Given the description of an element on the screen output the (x, y) to click on. 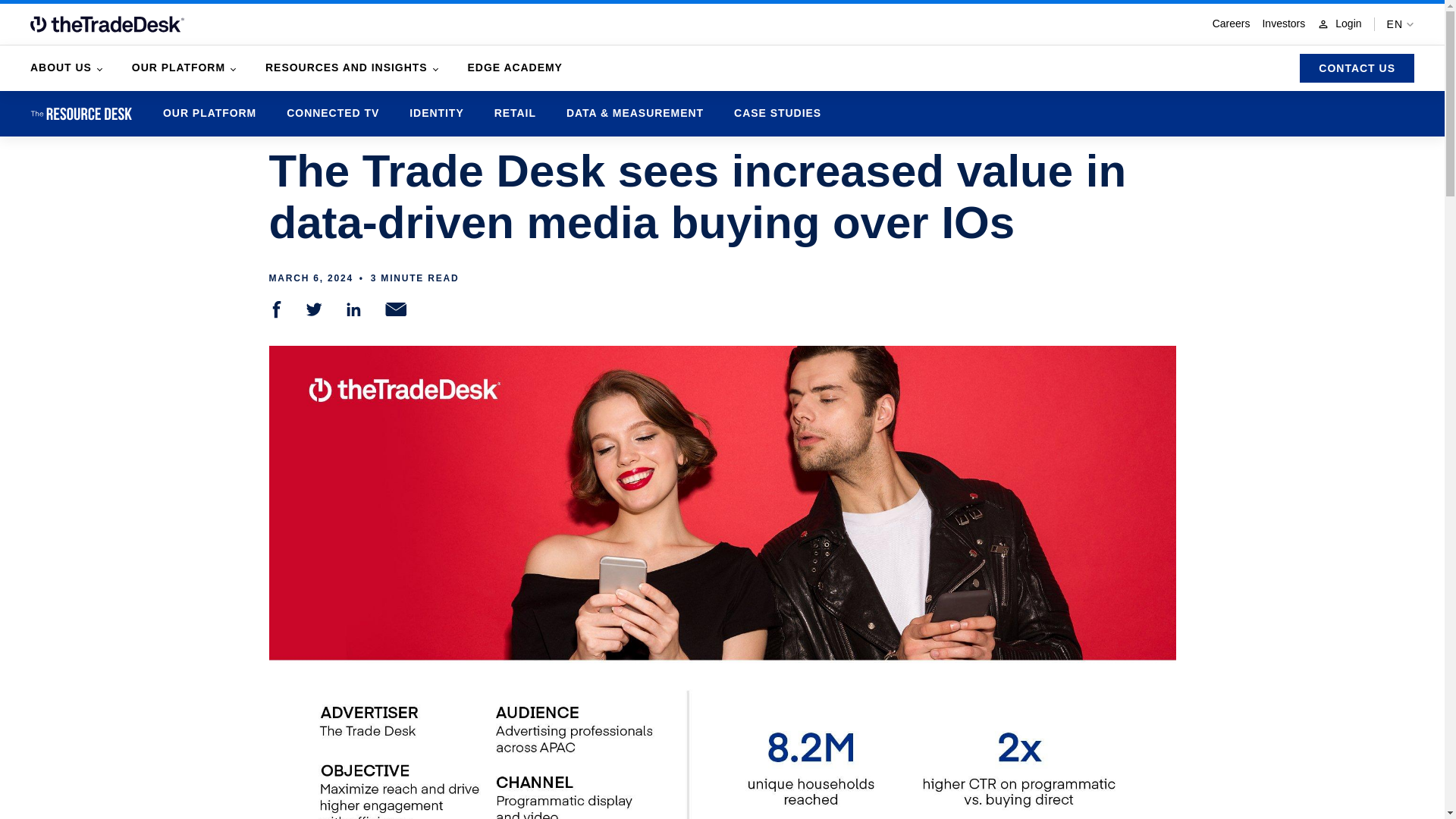
EN (1400, 24)
Careers (1231, 23)
CONNECTED TV (332, 112)
Login (1339, 23)
OUR PLATFORM (183, 67)
OUR PLATFORM (209, 112)
Share on Facebook (275, 309)
CONTACT US (1356, 68)
IDENTITY (436, 112)
ABOUT US (65, 67)
EDGE ACADEMY (514, 67)
CASE STUDIES (777, 112)
Investors (1283, 23)
Share on LinkedIn (353, 309)
RETAIL (515, 112)
